Given the description of an element on the screen output the (x, y) to click on. 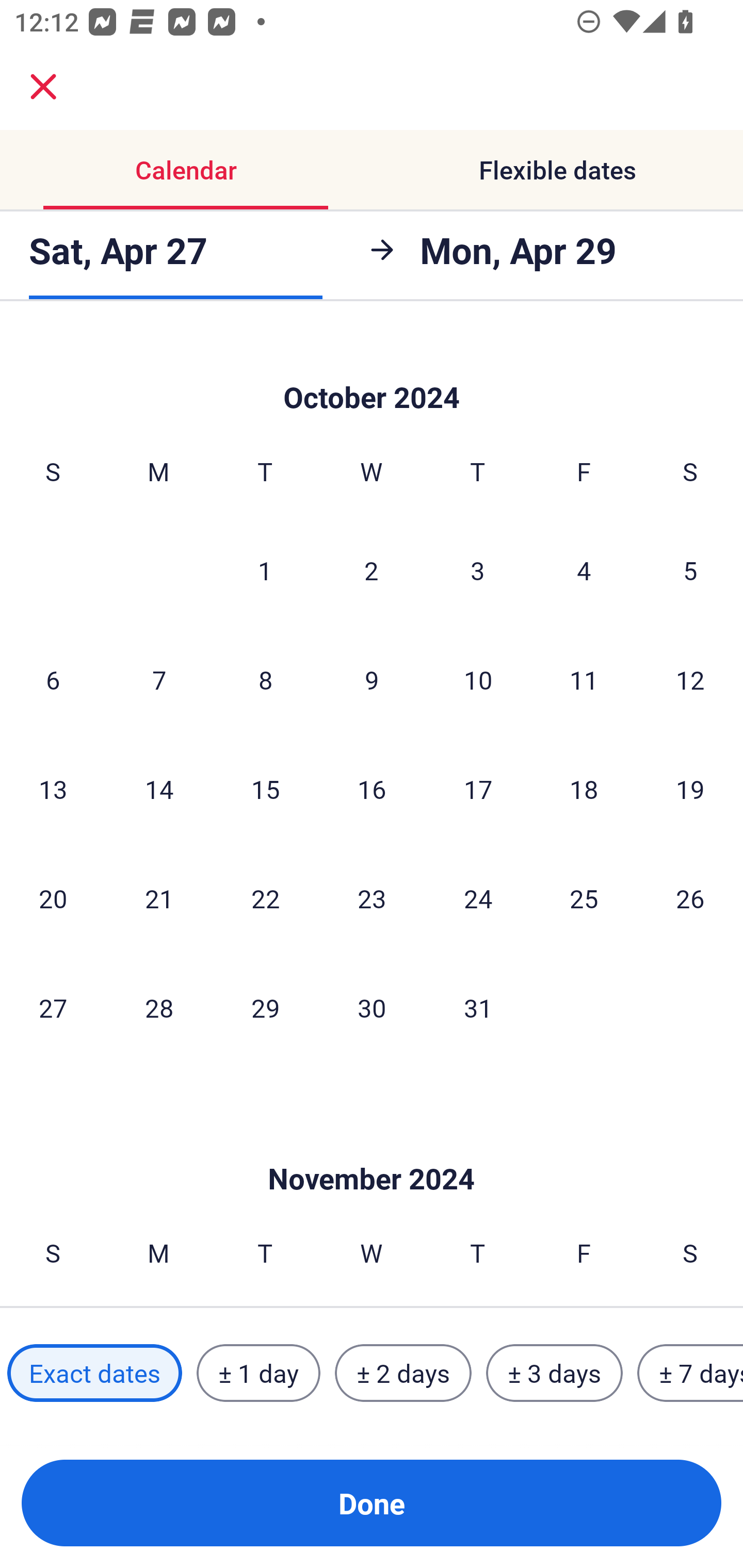
close. (43, 86)
Flexible dates (557, 170)
Skip to Done (371, 370)
1 Tuesday, October 1, 2024 (264, 569)
2 Wednesday, October 2, 2024 (371, 569)
3 Thursday, October 3, 2024 (477, 569)
4 Friday, October 4, 2024 (584, 569)
5 Saturday, October 5, 2024 (690, 569)
6 Sunday, October 6, 2024 (53, 679)
7 Monday, October 7, 2024 (159, 679)
8 Tuesday, October 8, 2024 (265, 679)
9 Wednesday, October 9, 2024 (371, 679)
10 Thursday, October 10, 2024 (477, 679)
11 Friday, October 11, 2024 (584, 679)
12 Saturday, October 12, 2024 (690, 679)
13 Sunday, October 13, 2024 (53, 788)
14 Monday, October 14, 2024 (159, 788)
15 Tuesday, October 15, 2024 (265, 788)
16 Wednesday, October 16, 2024 (371, 788)
17 Thursday, October 17, 2024 (477, 788)
18 Friday, October 18, 2024 (584, 788)
19 Saturday, October 19, 2024 (690, 788)
20 Sunday, October 20, 2024 (53, 898)
21 Monday, October 21, 2024 (159, 898)
22 Tuesday, October 22, 2024 (265, 898)
23 Wednesday, October 23, 2024 (371, 898)
24 Thursday, October 24, 2024 (477, 898)
25 Friday, October 25, 2024 (584, 898)
26 Saturday, October 26, 2024 (690, 898)
27 Sunday, October 27, 2024 (53, 1006)
28 Monday, October 28, 2024 (159, 1006)
29 Tuesday, October 29, 2024 (265, 1006)
30 Wednesday, October 30, 2024 (371, 1006)
31 Thursday, October 31, 2024 (477, 1006)
Skip to Done (371, 1148)
Exact dates (94, 1372)
± 1 day (258, 1372)
± 2 days (403, 1372)
± 3 days (553, 1372)
± 7 days (690, 1372)
Done (371, 1502)
